Given the description of an element on the screen output the (x, y) to click on. 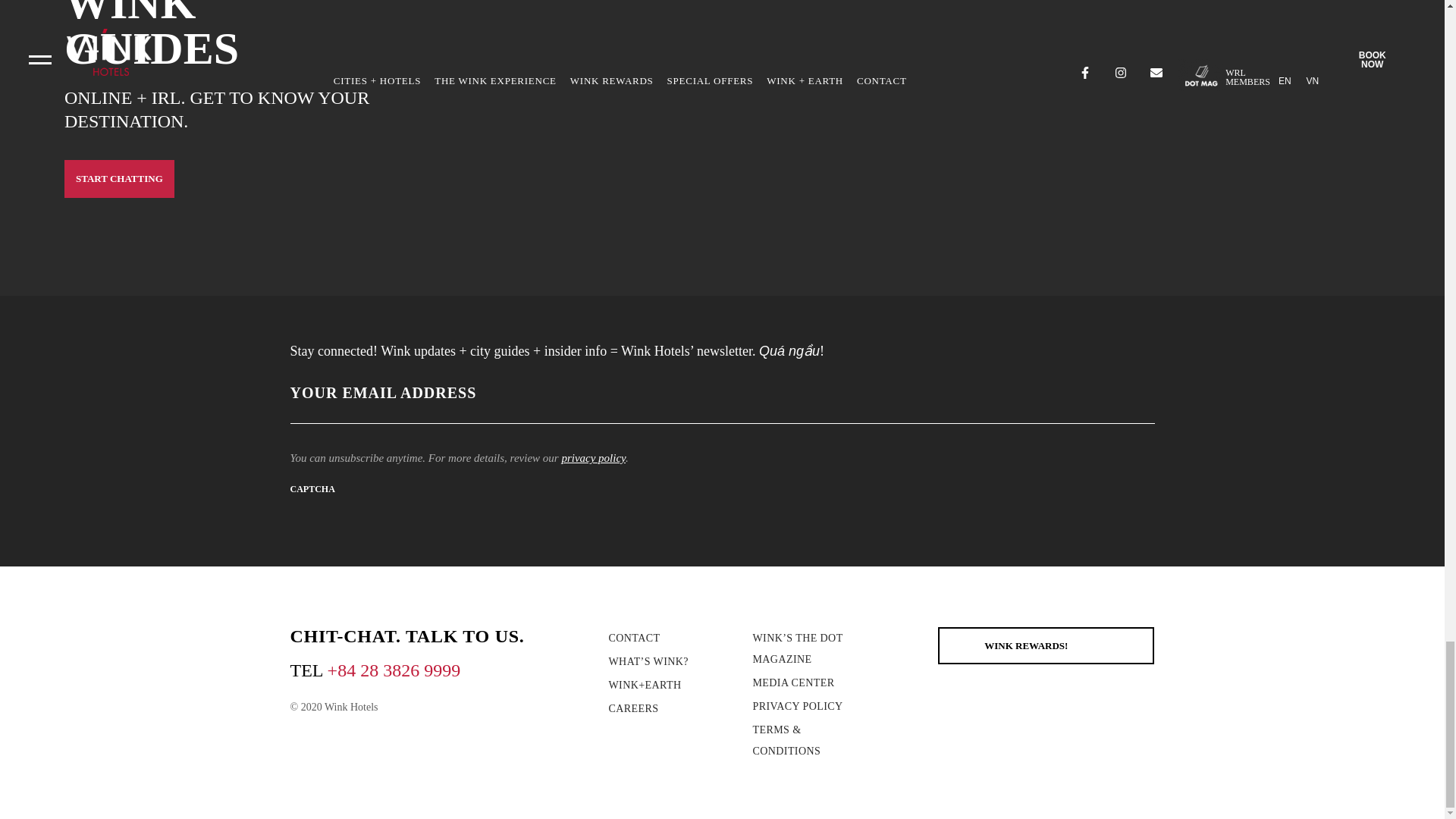
CONTACT (633, 637)
Submit (1123, 399)
Submit (1123, 399)
privacy policy (593, 458)
START CHATTING (119, 178)
